Given the description of an element on the screen output the (x, y) to click on. 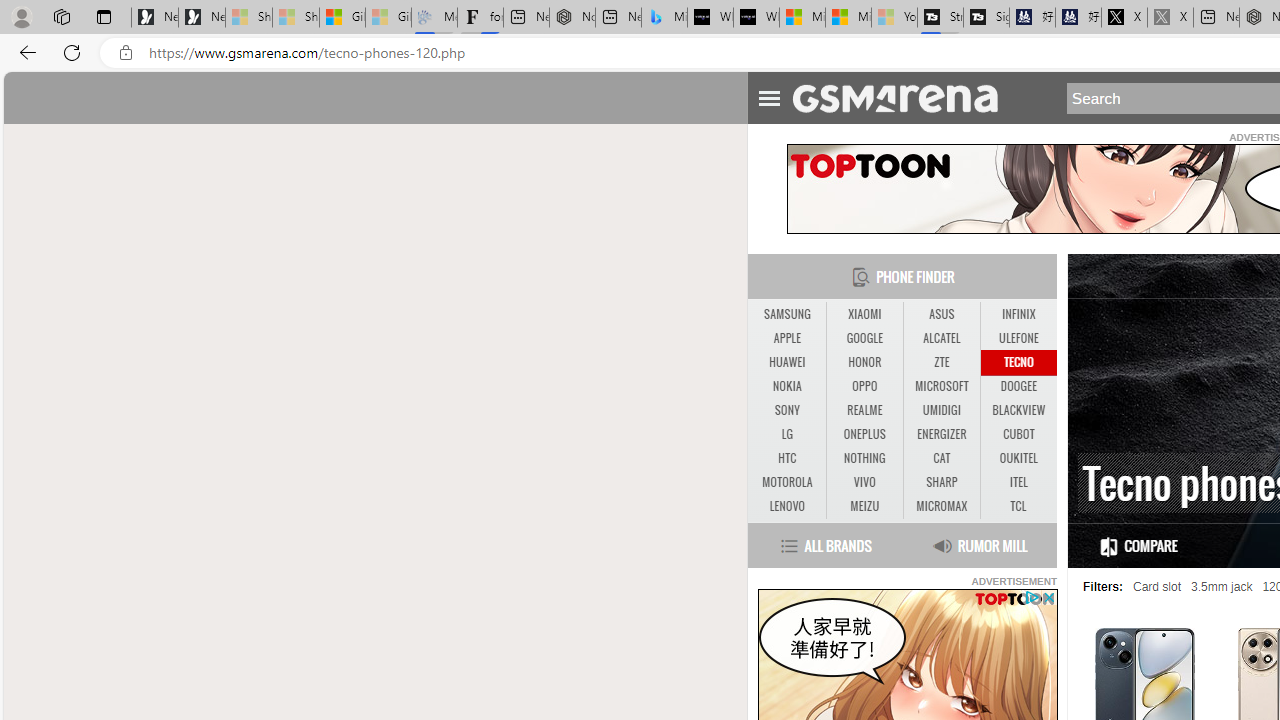
REALME (863, 410)
X (1124, 17)
LG (786, 434)
CAT (941, 458)
REALME (864, 411)
What's the best AI voice generator? - voice.ai (756, 17)
LENOVO (786, 506)
LG (786, 434)
NOTHING (863, 457)
Nordace - #1 Japanese Best-Seller - Siena Smart Backpack (572, 17)
SONY (786, 410)
X - Sleeping (1170, 17)
ALCATEL (941, 339)
OUKITEL (1018, 457)
